Given the description of an element on the screen output the (x, y) to click on. 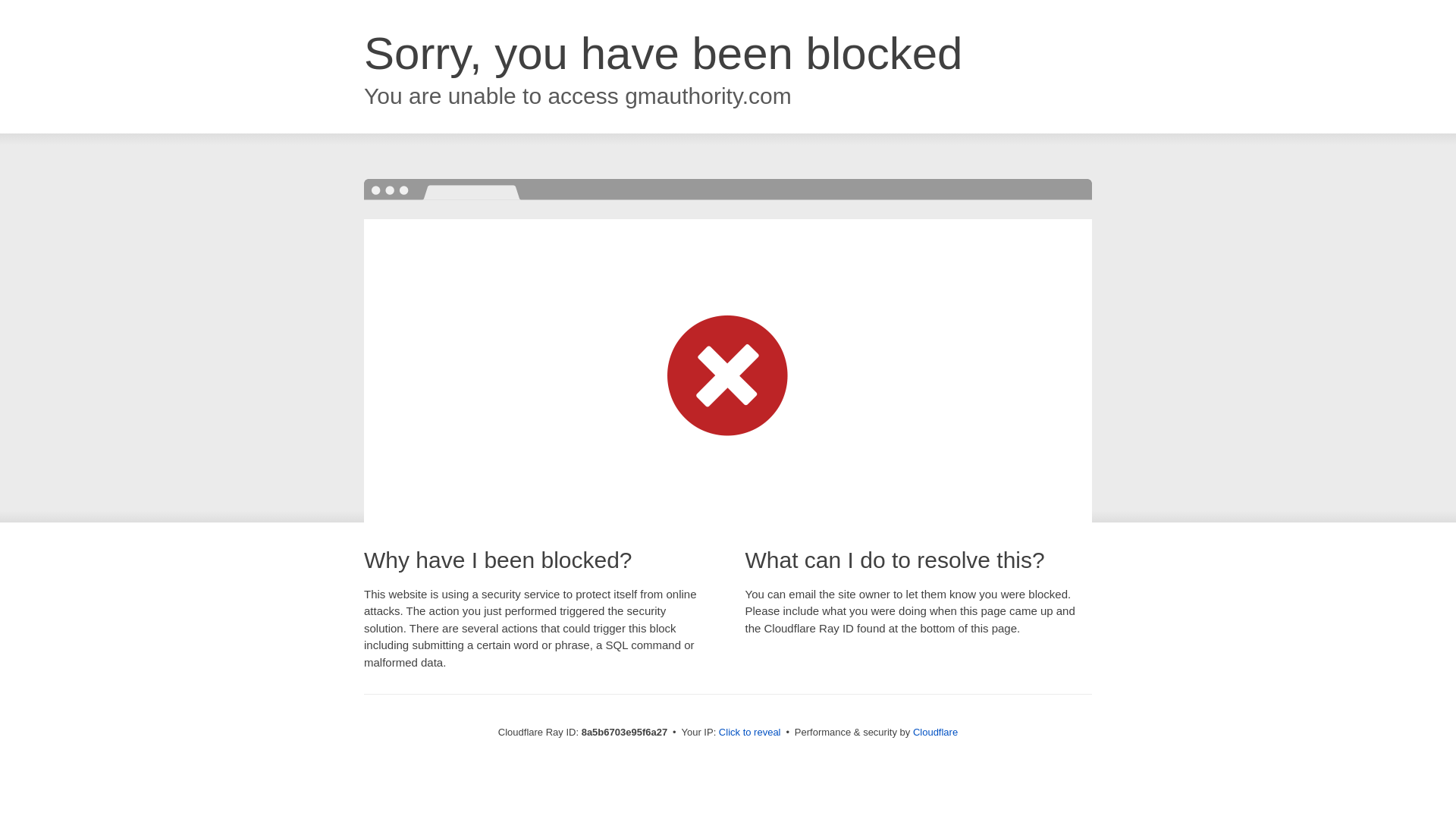
Click to reveal (749, 732)
Cloudflare (935, 731)
